Given the description of an element on the screen output the (x, y) to click on. 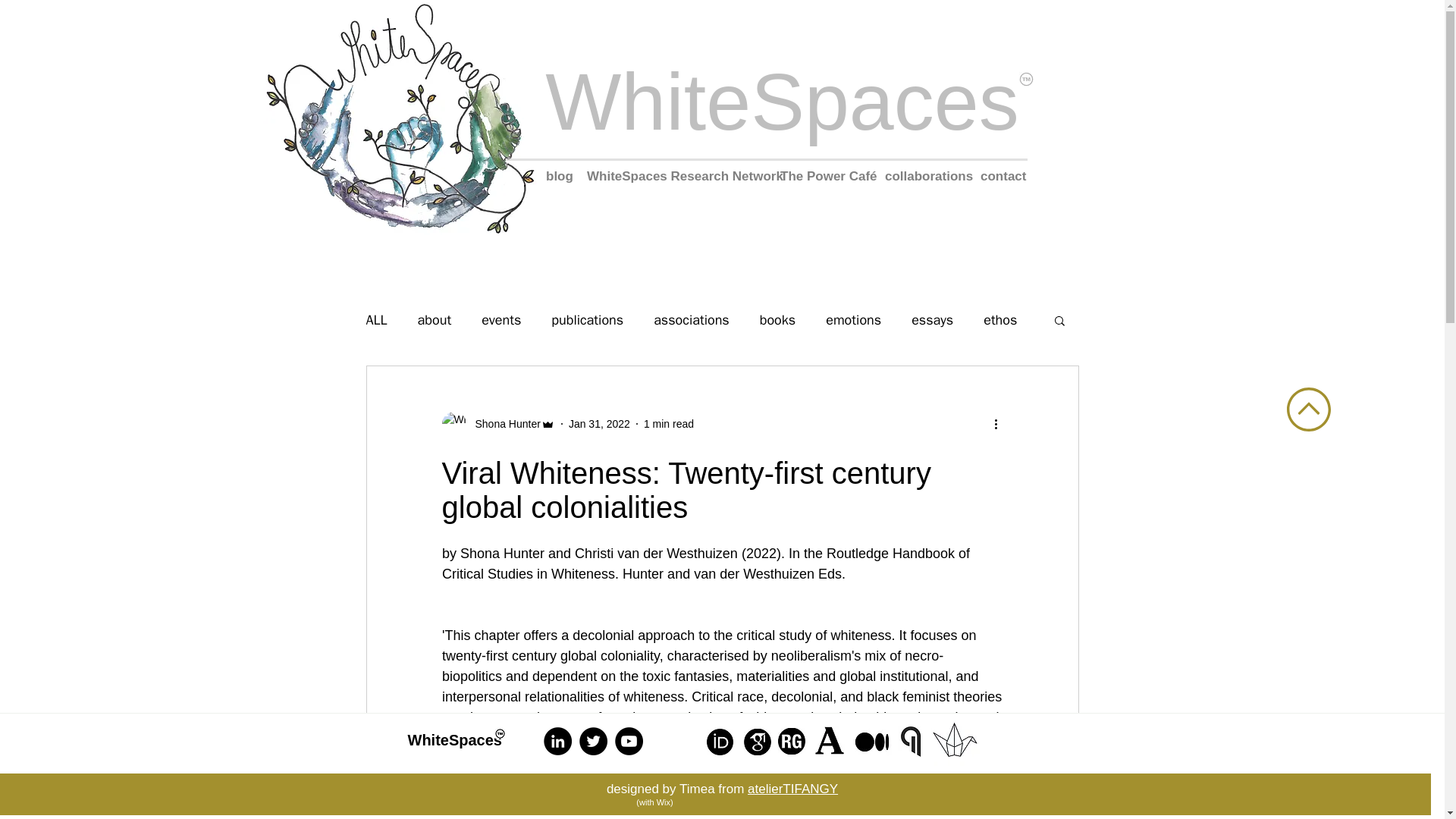
WhiteSpaces (781, 101)
blog (558, 176)
Shona Hunter (497, 423)
Shona Hunter (502, 423)
about (434, 320)
collaborations (924, 176)
contact (1001, 176)
1 min read (668, 422)
Jan 31, 2022 (599, 422)
essays (932, 320)
associations (691, 320)
ALL (376, 320)
WhiteSpaces Research Network (676, 176)
emotions (852, 320)
publications (587, 320)
